Given the description of an element on the screen output the (x, y) to click on. 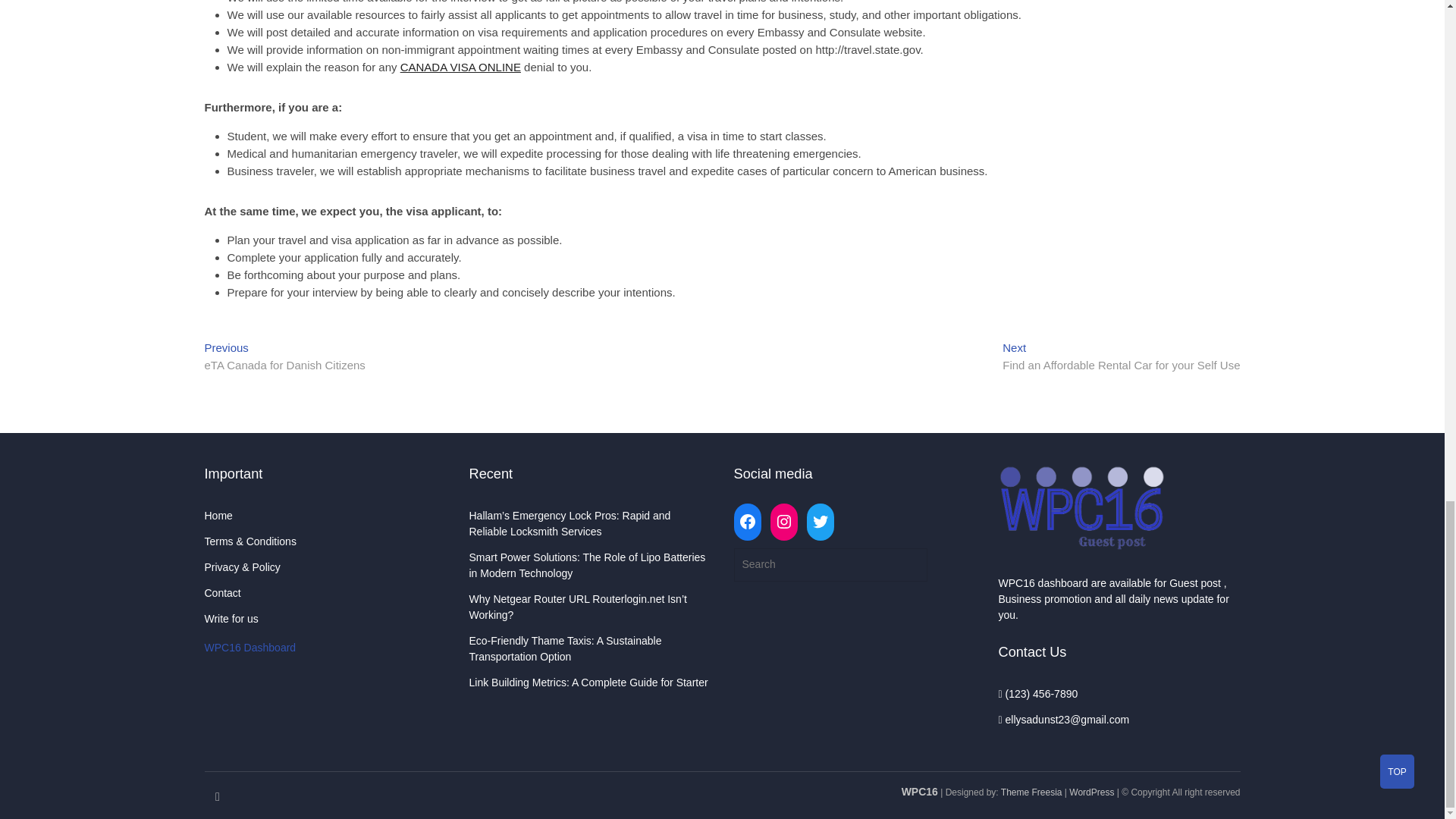
WordPress (1090, 792)
WPC16 (919, 791)
Call Us (1037, 693)
Mail Us (1063, 719)
CANADA VISA ONLINE (460, 66)
Theme Freesia (285, 357)
